Given the description of an element on the screen output the (x, y) to click on. 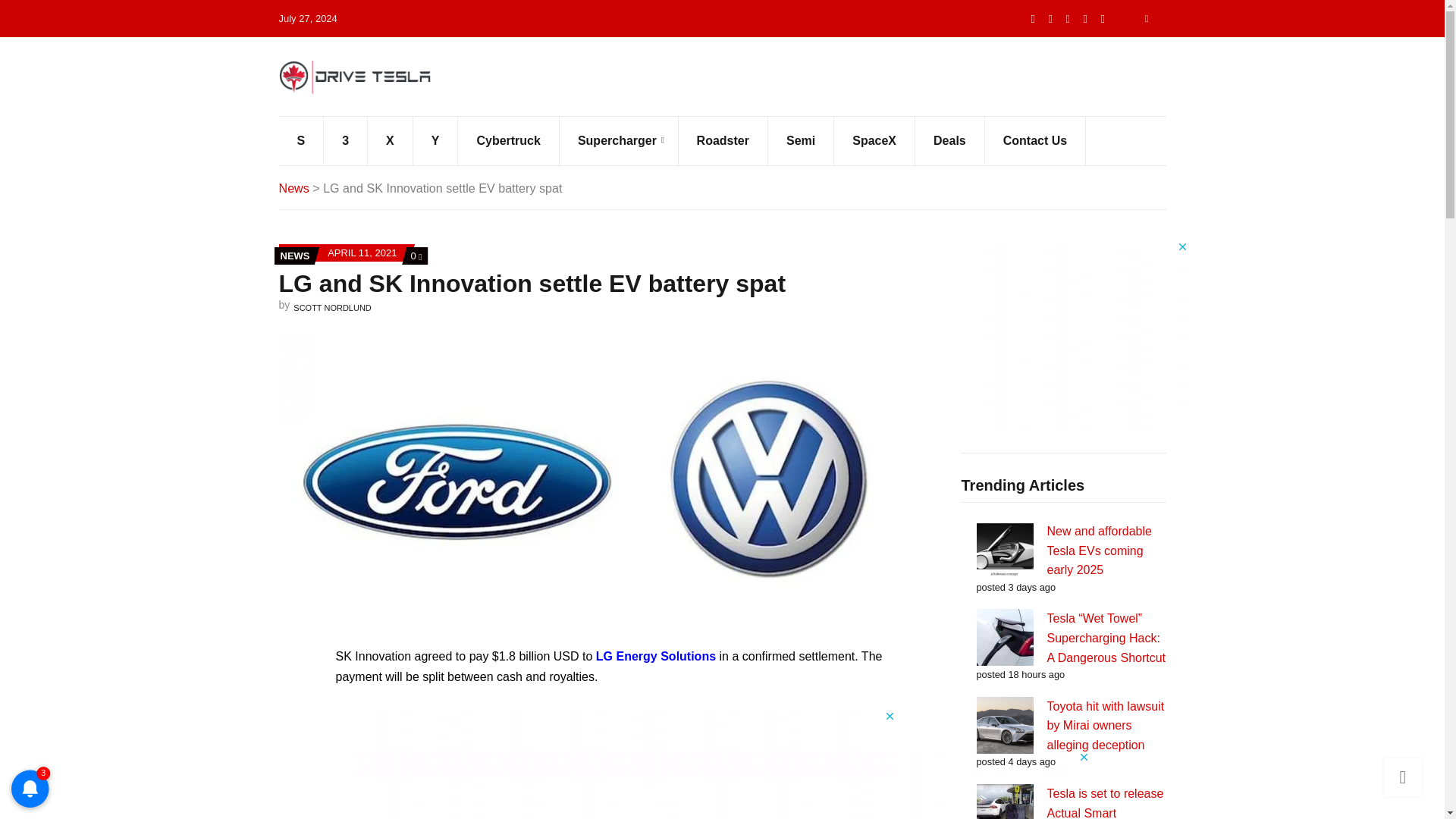
Facebook (1068, 18)
Instagram (1102, 18)
NEWS (295, 255)
YouTube (1085, 18)
SCOTT NORDLUND (332, 307)
3 (345, 141)
LG Energy Solutions (416, 255)
3rd party ad content (655, 656)
News (722, 785)
SpaceX (293, 187)
Cybertruck (874, 141)
Contact Us (508, 141)
3rd party ad content (1035, 141)
X (1074, 334)
